Given the description of an element on the screen output the (x, y) to click on. 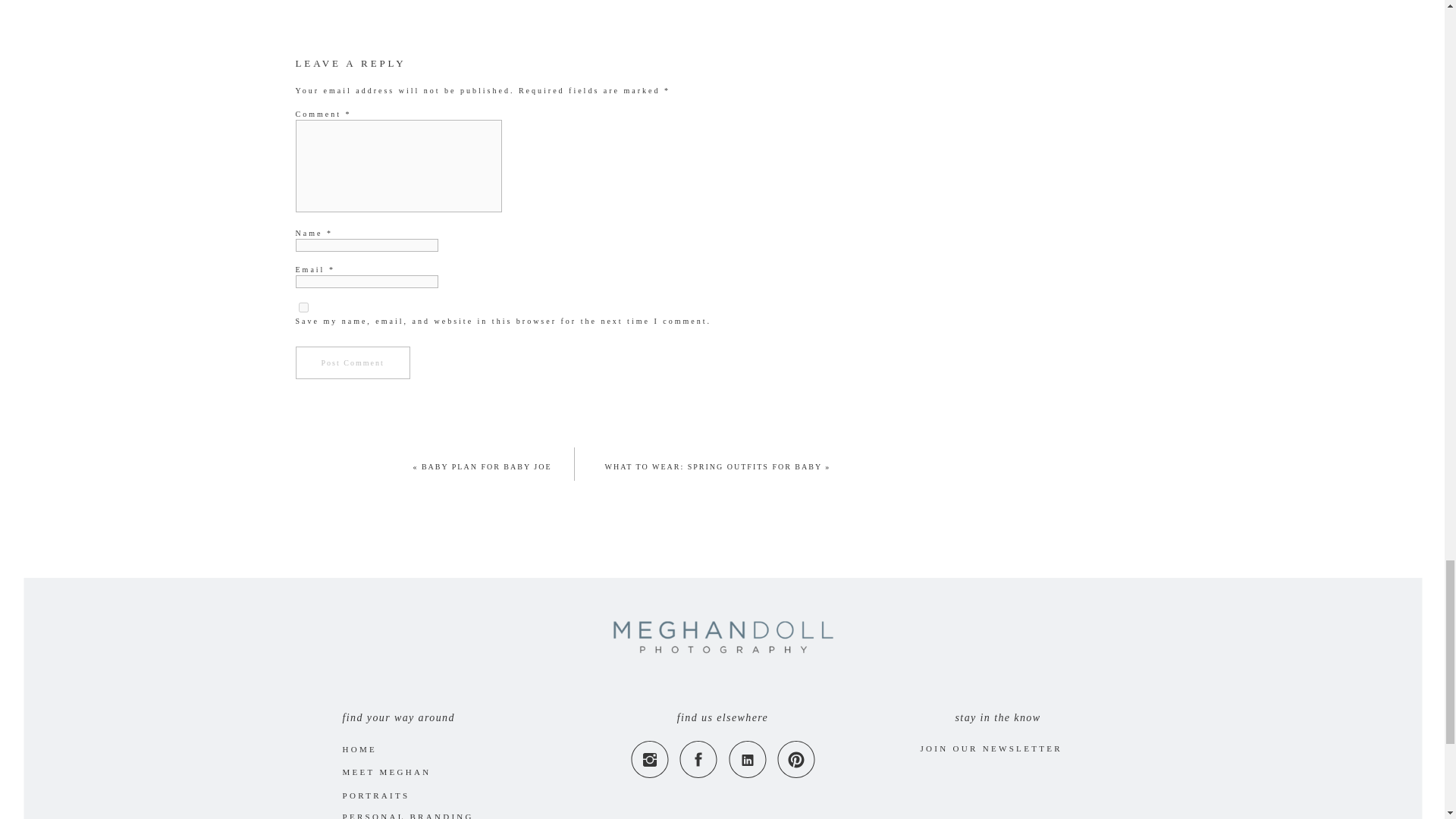
MEET MEGHAN (401, 770)
PORTRAITS (380, 794)
Post Comment (352, 361)
yes (303, 307)
WHAT TO WEAR: SPRING OUTFITS FOR BABY (713, 466)
BABY PLAN FOR BABY JOE (486, 466)
Post Comment (352, 361)
